Given the description of an element on the screen output the (x, y) to click on. 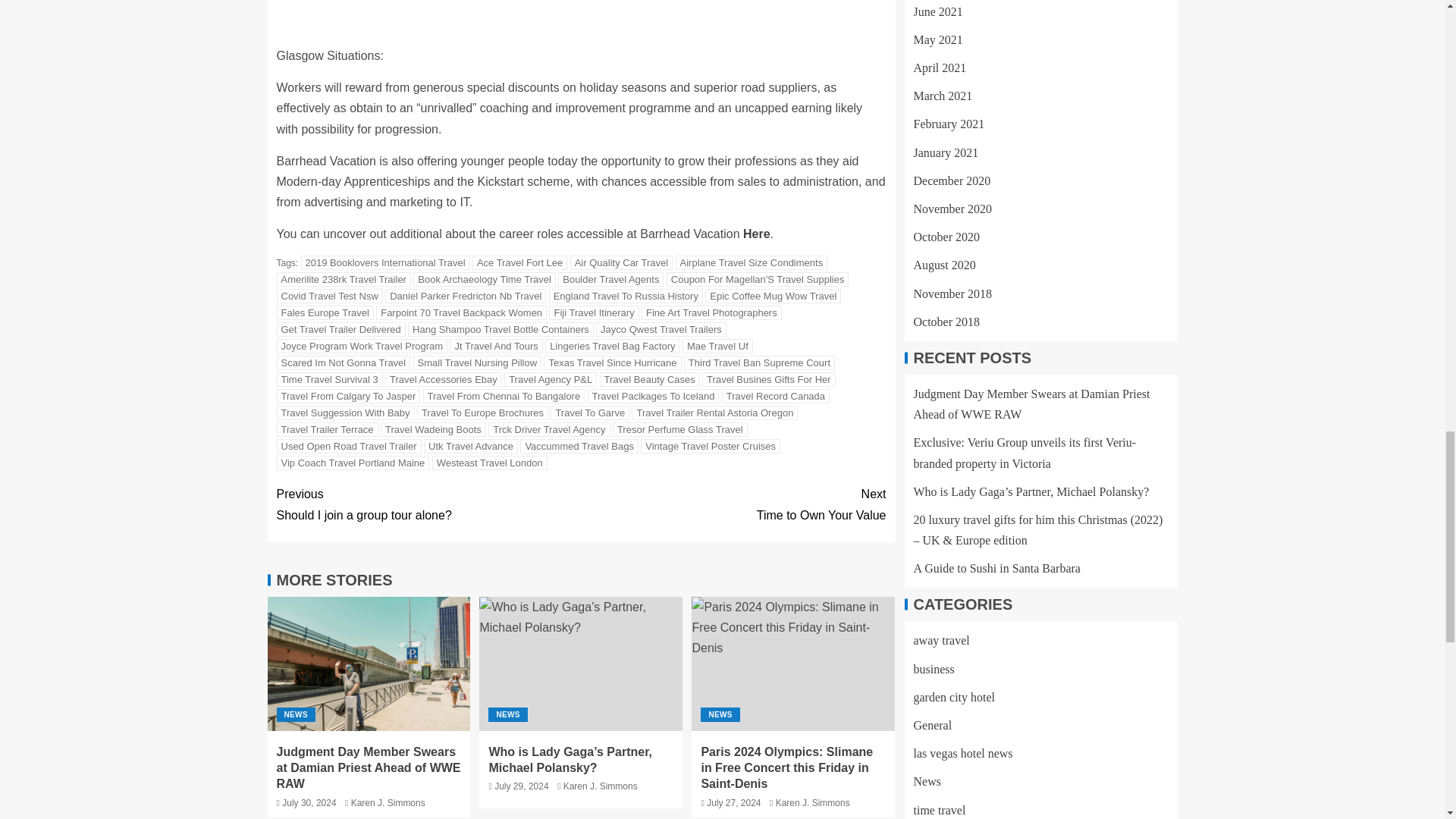
Judgment Day Member Swears at Damian Priest Ahead of WWE RAW (368, 664)
Epic Coffee Mug Wow Travel (772, 296)
Farpoint 70 Travel Backpack Women (461, 312)
Amerilite 238rk Travel Trailer (343, 278)
England Travel To Russia History (625, 296)
Coupon For Magellan'S Travel Supplies (757, 278)
Daniel Parker Fredricton Nb Travel (465, 296)
Fales Europe Travel (324, 312)
Fiji Travel Itinerary (593, 312)
Fine Art Travel Photographers (711, 312)
2019 Booklovers International Travel (385, 262)
Boulder Travel Agents (610, 278)
Here (756, 233)
Airplane Travel Size Condiments (751, 262)
